Given the description of an element on the screen output the (x, y) to click on. 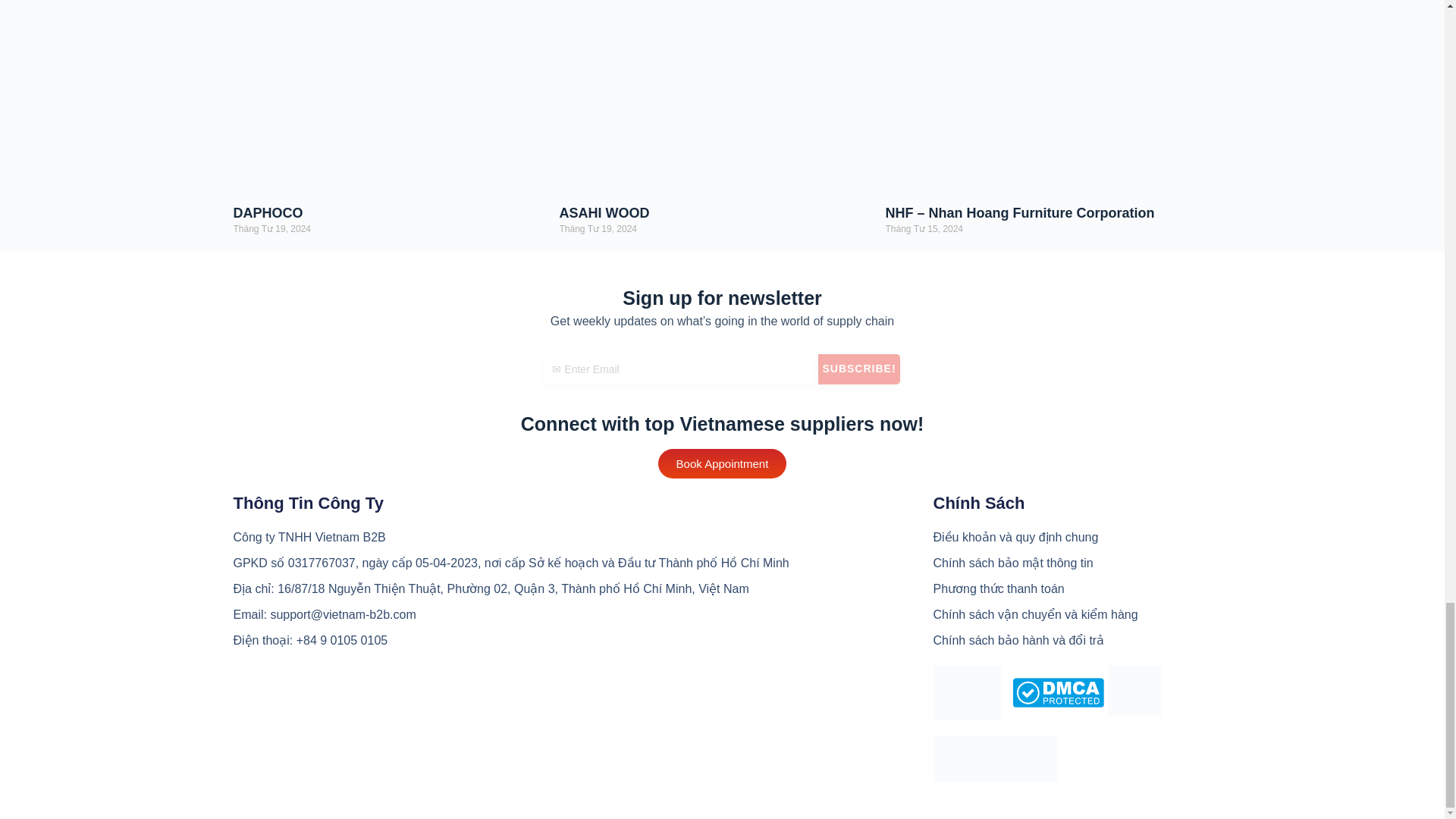
DMCA.com Protection Status (1057, 691)
Subscribe! (858, 368)
ASAHI WOOD (604, 212)
DAPHOCO (267, 212)
